Given the description of an element on the screen output the (x, y) to click on. 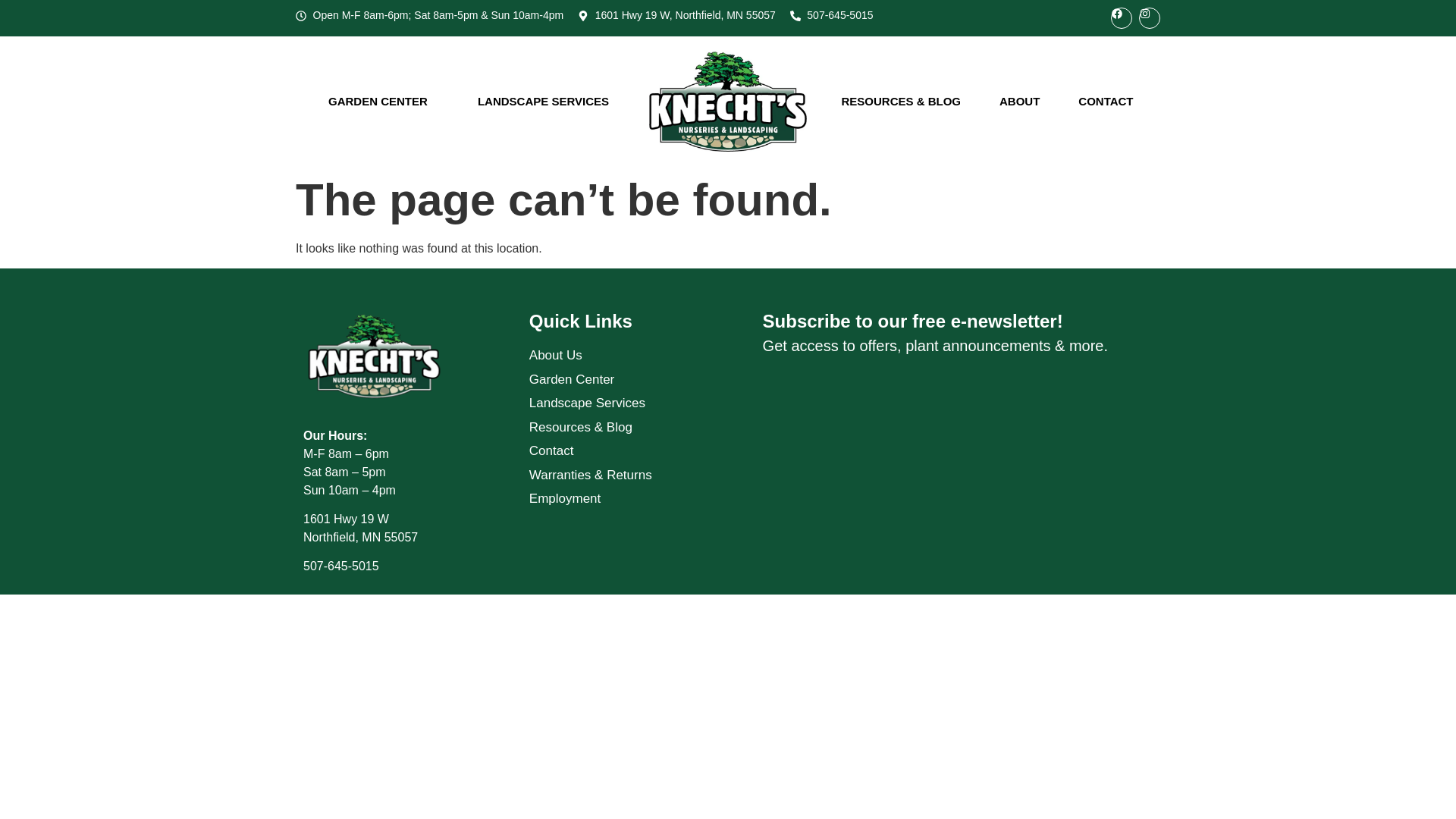
LANDSCAPE SERVICES (542, 101)
1601 Hwy 19 W, Northfield, MN 55057 (677, 15)
GARDEN CENTER (377, 101)
507-645-5015 (831, 15)
ABOUT (1018, 101)
CONTACT (1106, 101)
